Given the description of an element on the screen output the (x, y) to click on. 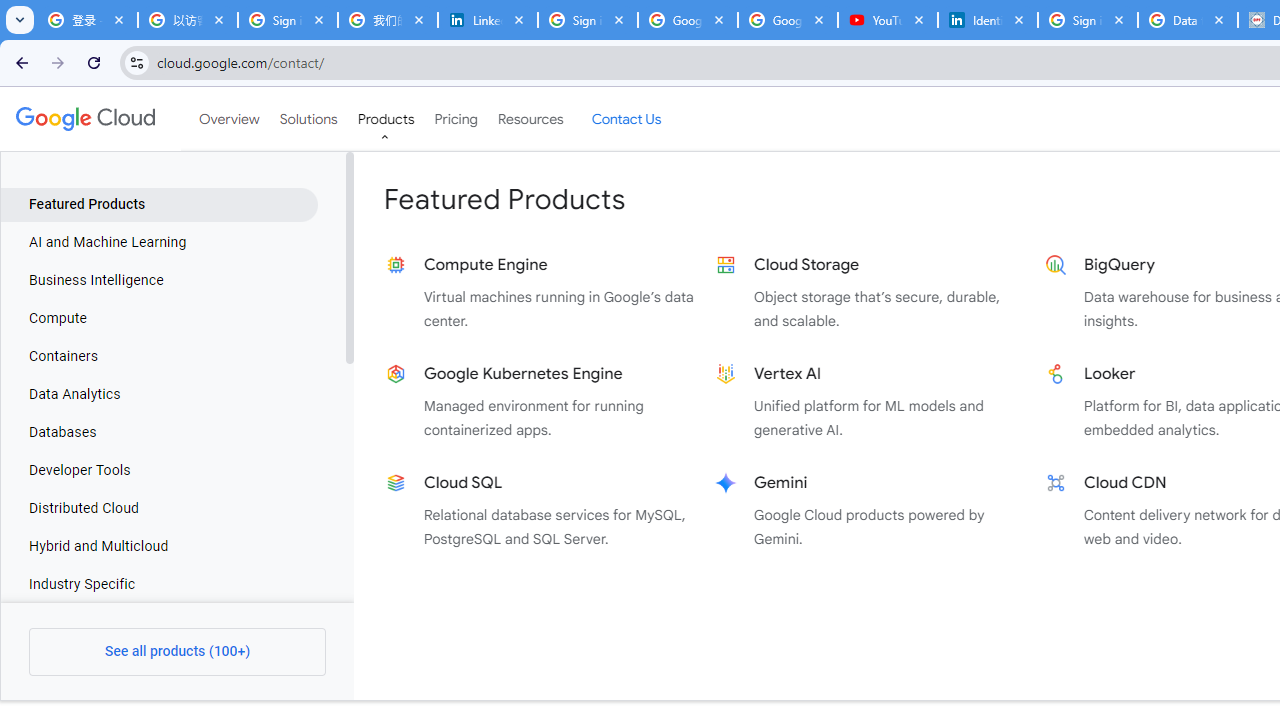
Contact Us (626, 119)
Vertex AI Unified platform for ML models and generative AI. (870, 402)
Sign in - Google Accounts (287, 20)
AI and Machine Learning (159, 242)
Databases (159, 433)
Data Analytics (159, 394)
Distributed Cloud (159, 508)
Products (385, 119)
